Given the description of an element on the screen output the (x, y) to click on. 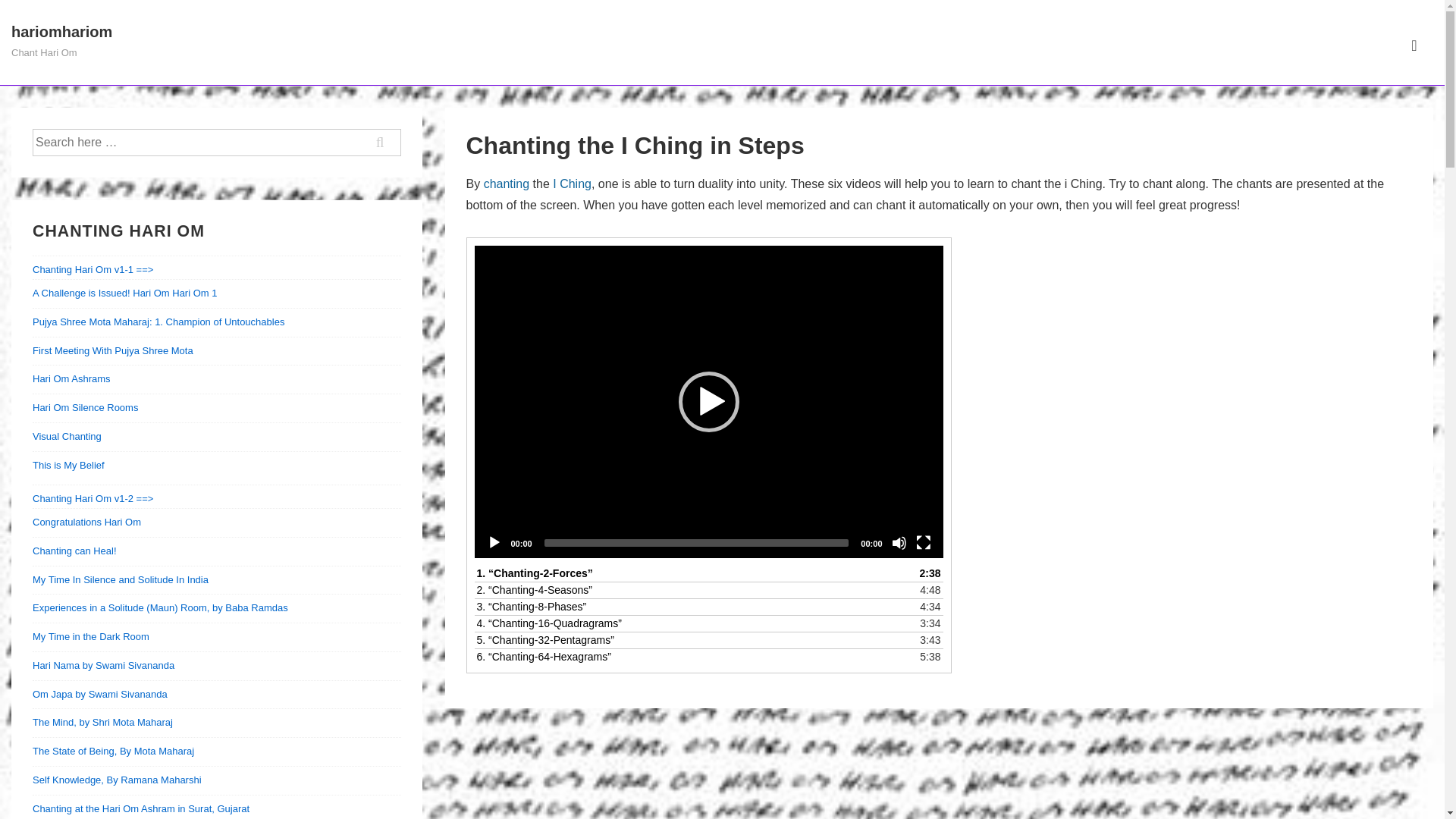
hariomhariom (61, 31)
Play (494, 542)
Fullscreen (923, 542)
MENU (1414, 45)
Mute (899, 542)
